Given the description of an element on the screen output the (x, y) to click on. 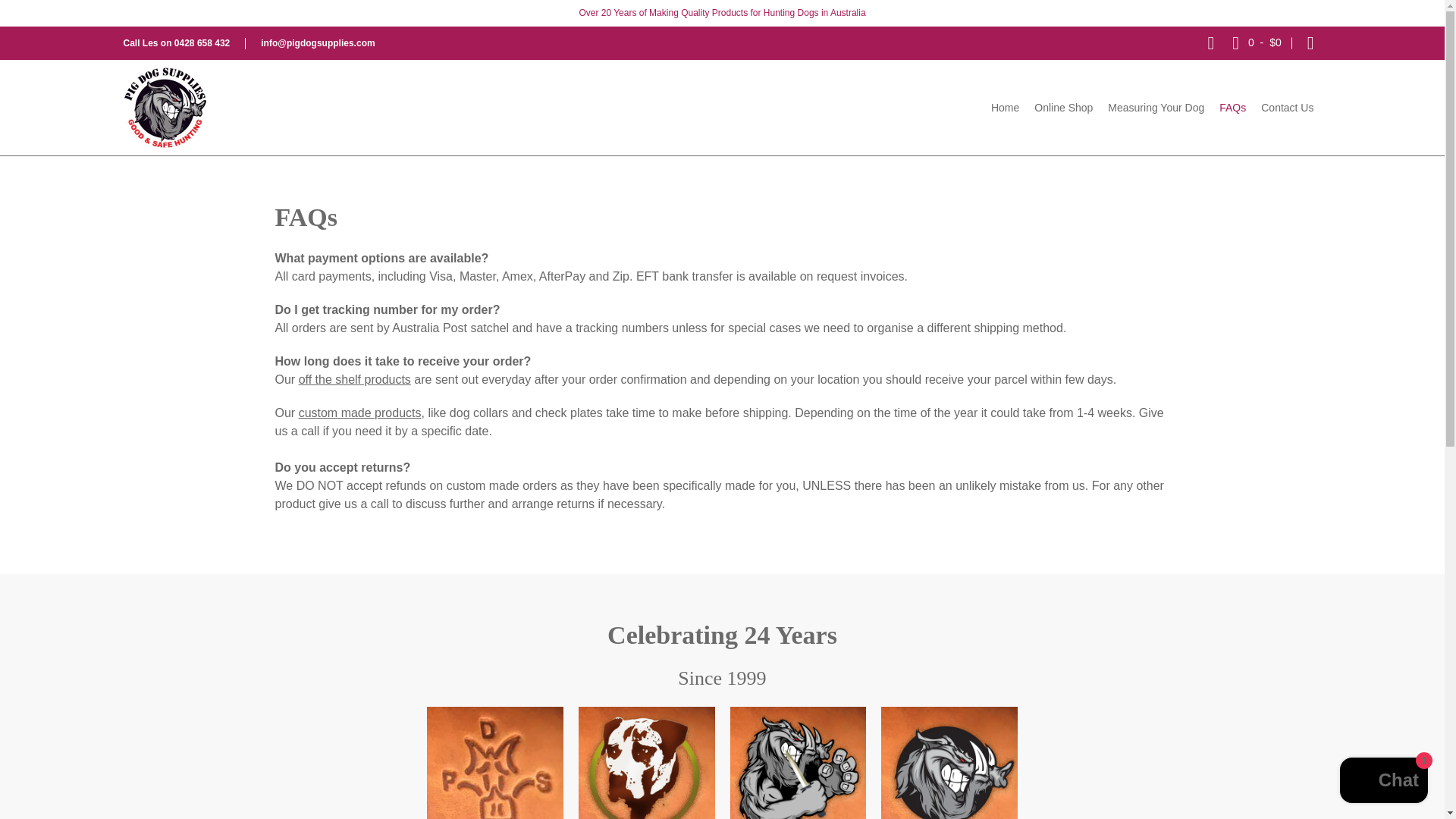
Log in (1310, 42)
Cart (1256, 42)
